Given the description of an element on the screen output the (x, y) to click on. 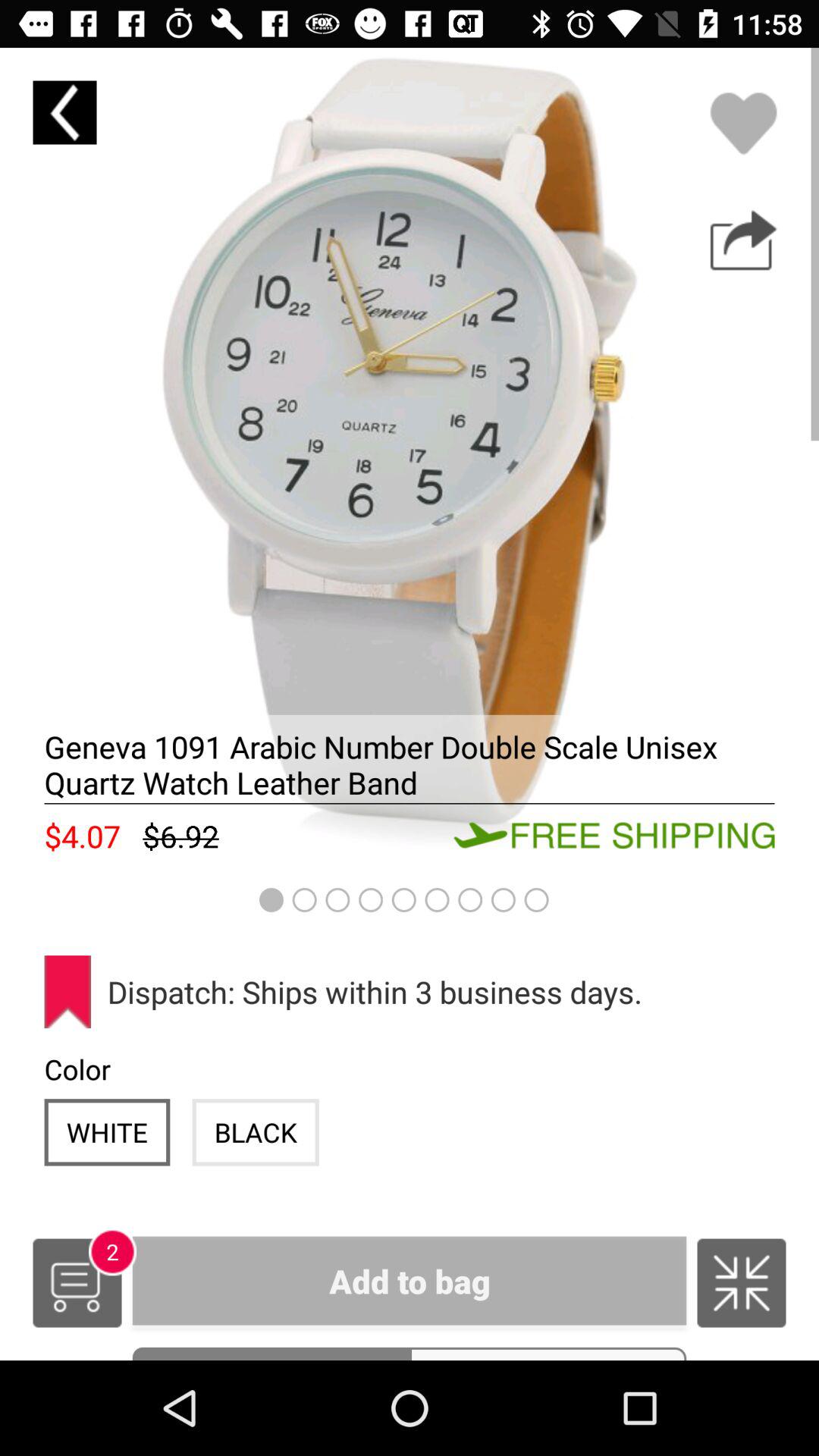
select icon next to the add to bag (741, 1282)
